Given the description of an element on the screen output the (x, y) to click on. 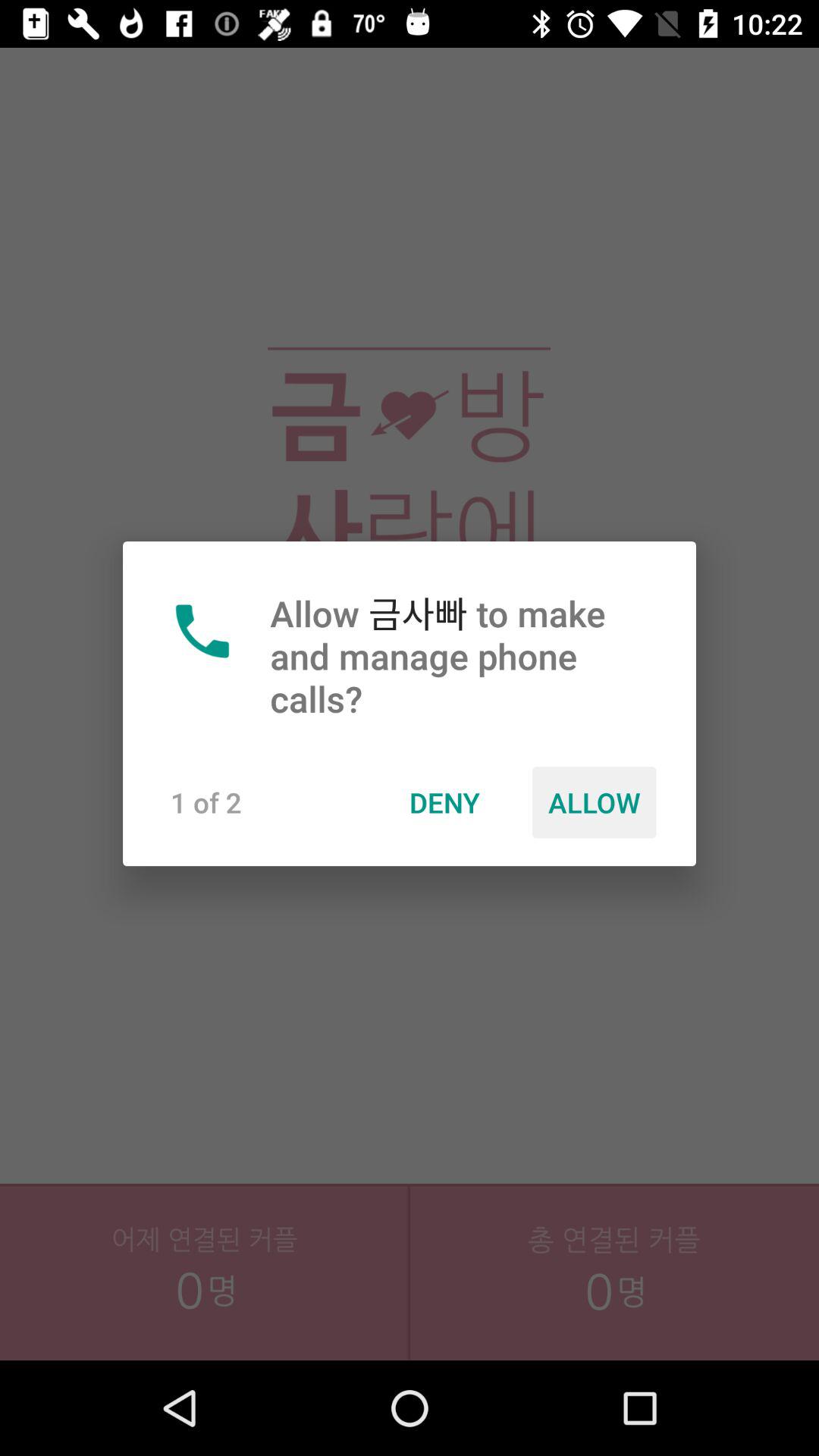
choose icon at the bottom left corner (204, 1305)
